Given the description of an element on the screen output the (x, y) to click on. 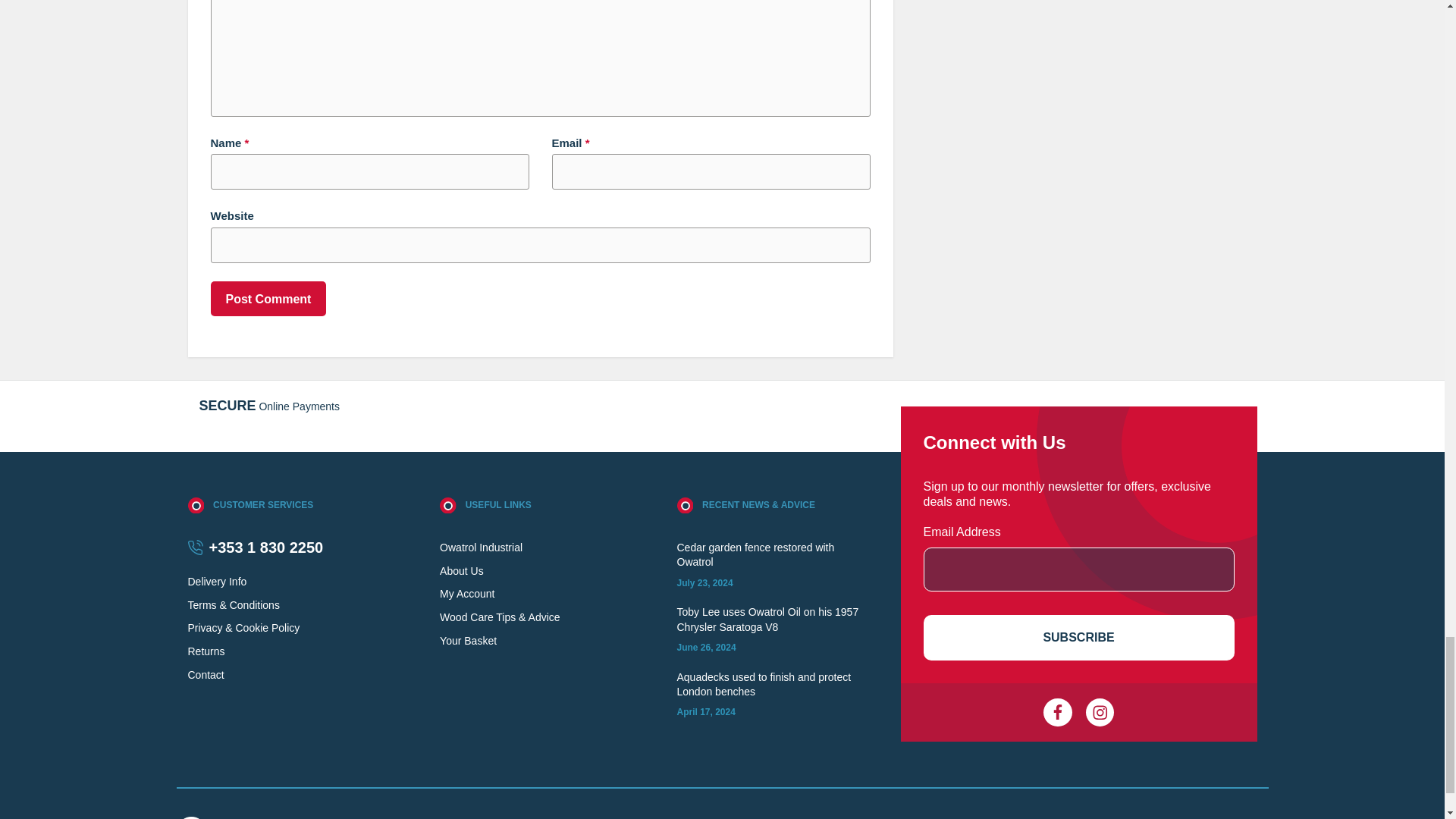
Like on Facebook (1057, 712)
Subscribe (1078, 637)
Post Comment (268, 298)
Follow on Instagram (1100, 712)
